Given the description of an element on the screen output the (x, y) to click on. 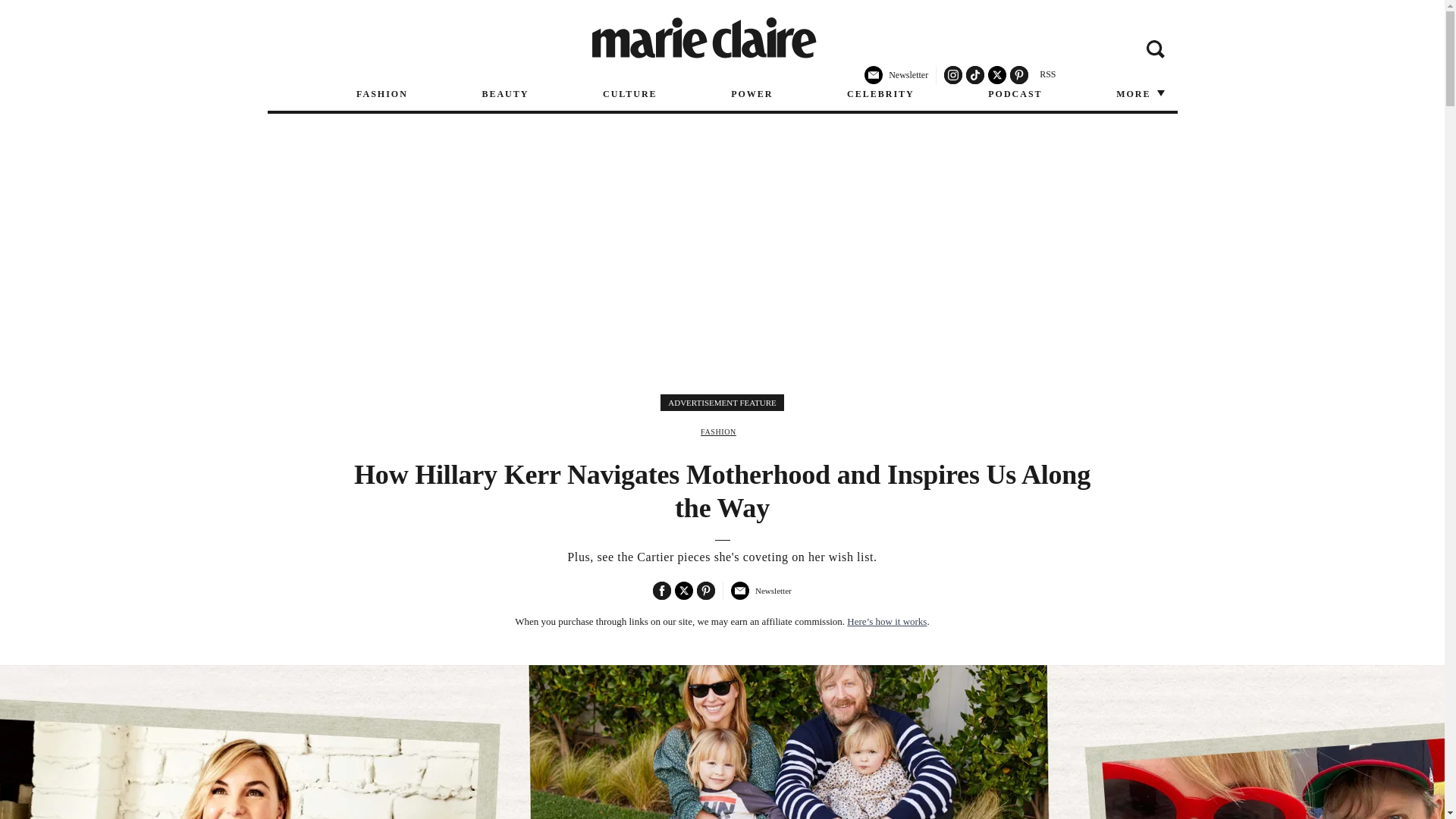
Really Simple Syndication (1047, 73)
Newsletter (896, 80)
FASHION (381, 94)
POWER (751, 94)
CELEBRITY (880, 94)
RSS (1047, 73)
BEAUTY (504, 94)
CULTURE (630, 94)
FASHION (718, 431)
Newsletter (760, 596)
PODCAST (1015, 94)
